Given the description of an element on the screen output the (x, y) to click on. 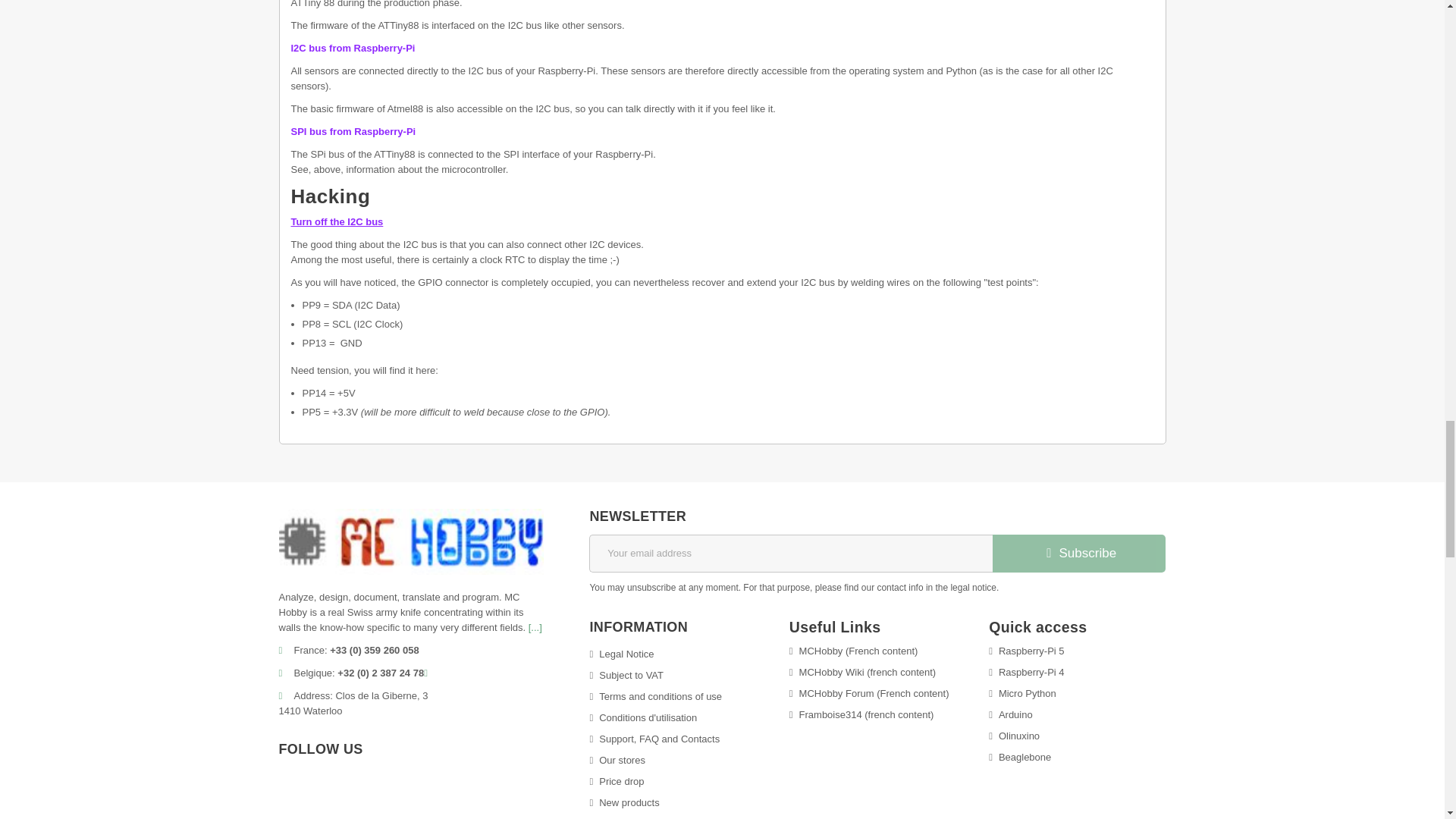
Voir plus (534, 627)
Conditions d'utilisation (643, 717)
Our stores (617, 759)
Legal Notice (621, 654)
Support, FAQ and Contacts (654, 738)
Subject to VAT (626, 674)
Price drop (616, 781)
Terms and conditions of use (655, 696)
